Given the description of an element on the screen output the (x, y) to click on. 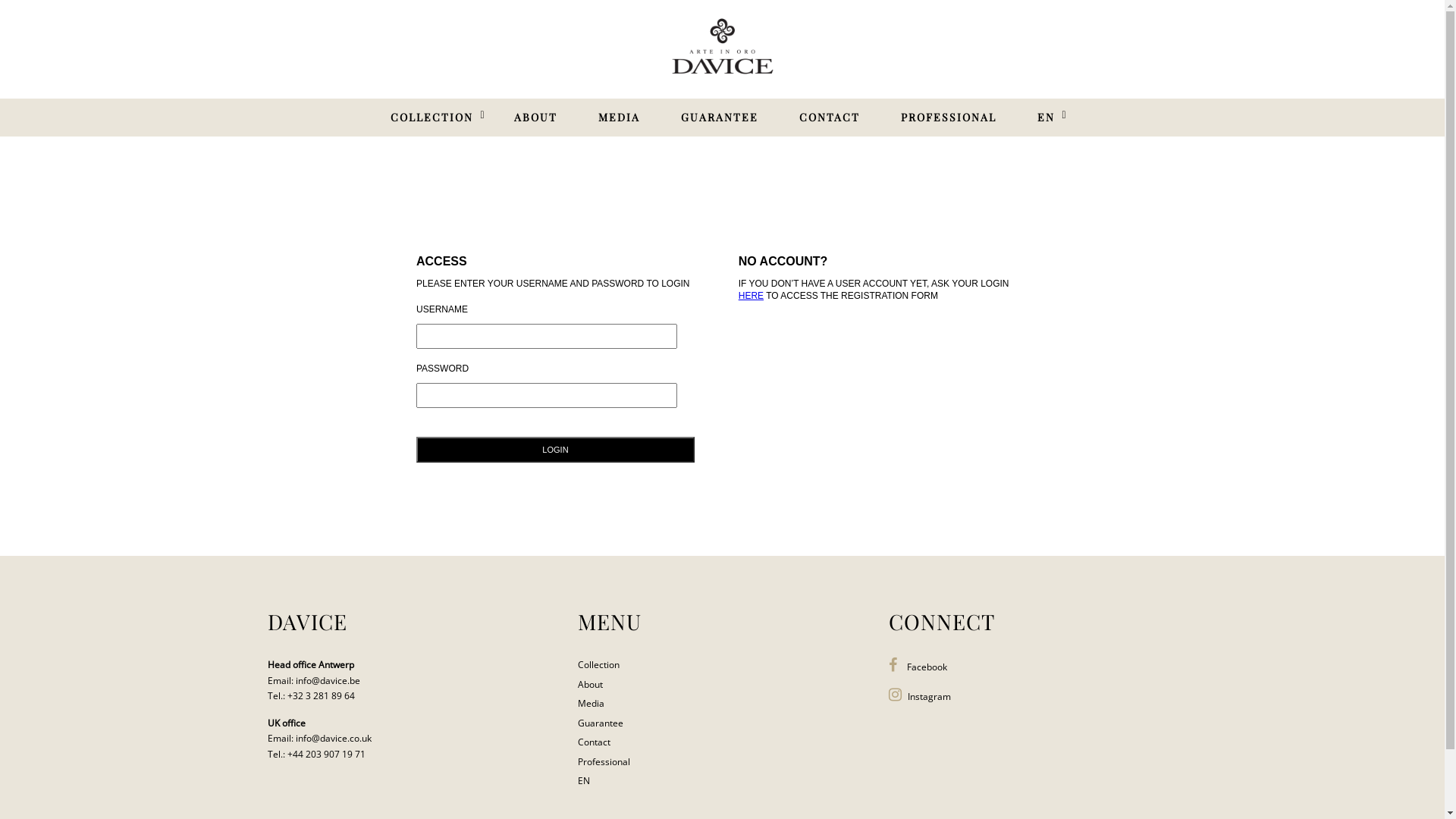
EN Element type: text (1046, 117)
info@davice.be Element type: text (327, 680)
Media Element type: text (590, 702)
Professional Element type: text (603, 761)
Instagram Element type: text (919, 696)
PROFESSIONAL Element type: text (948, 117)
Guarantee Element type: text (600, 722)
MEDIA Element type: text (618, 117)
EN Element type: text (583, 780)
GUARANTEE Element type: text (719, 117)
COLLECTION Element type: text (430, 117)
ABOUT Element type: text (535, 117)
About Element type: text (589, 683)
info@davice.co.uk Element type: text (333, 737)
CONTACT Element type: text (829, 117)
Facebook Element type: text (917, 666)
Collection Element type: text (598, 664)
Contact Element type: text (593, 741)
